Given the description of an element on the screen output the (x, y) to click on. 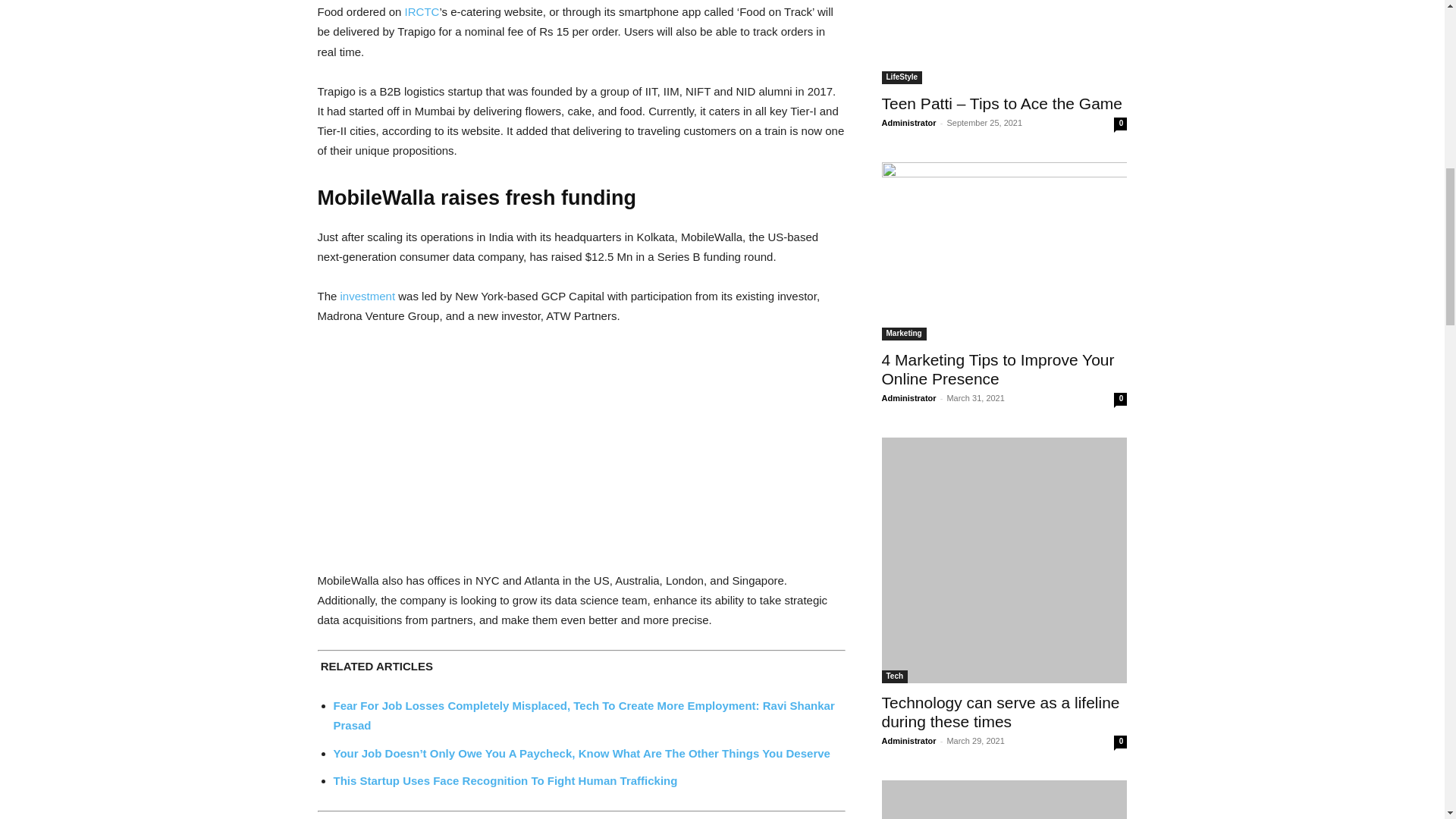
Advertisement (579, 451)
